Given the description of an element on the screen output the (x, y) to click on. 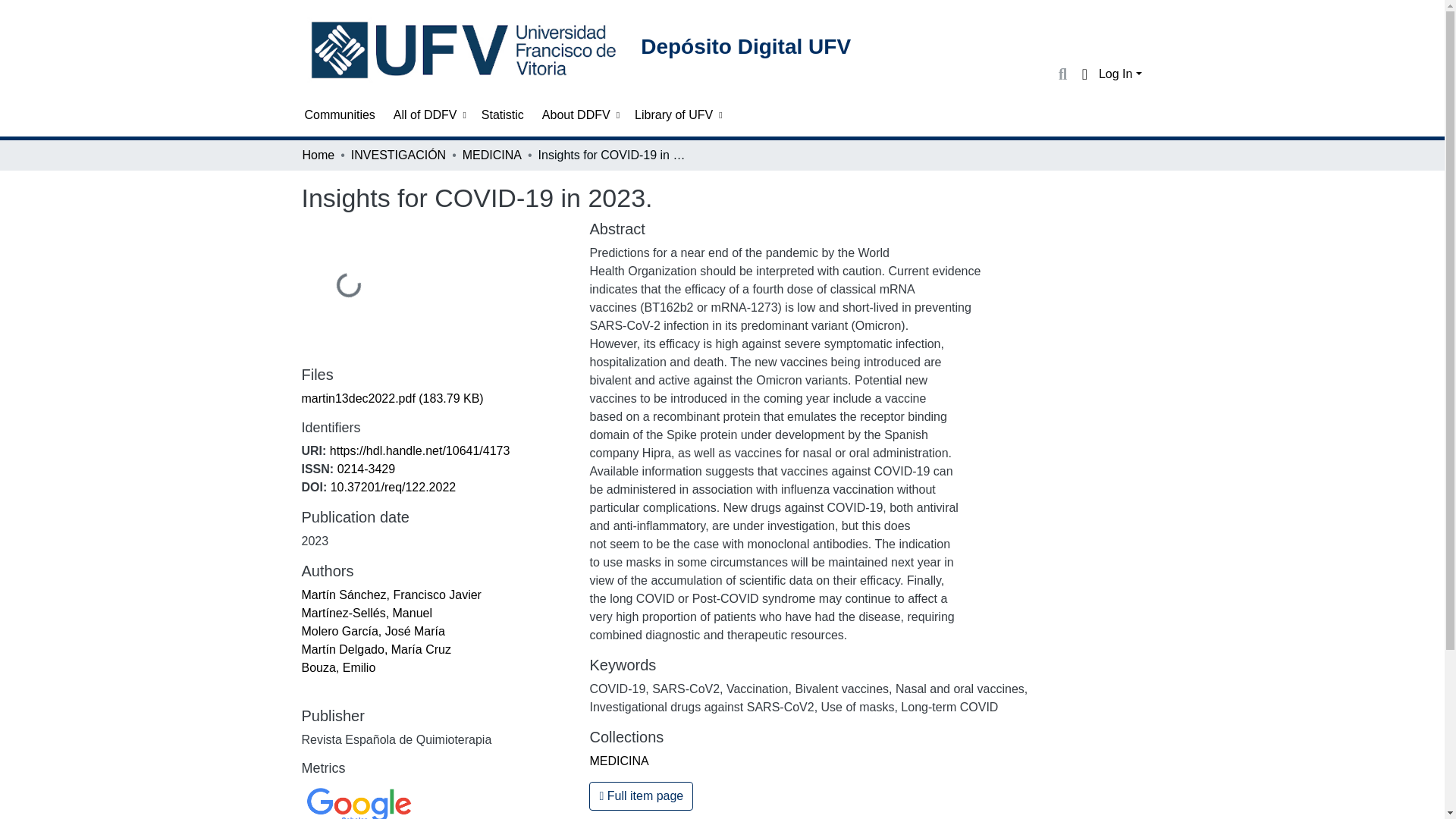
Search (1061, 74)
Communities (339, 115)
Home (317, 155)
About DDFV (579, 115)
Language switch (1084, 74)
All of DDFV (427, 115)
Statistic (503, 115)
MEDICINA (492, 155)
Bouza, Emilio (338, 667)
Log In (1119, 73)
